Given the description of an element on the screen output the (x, y) to click on. 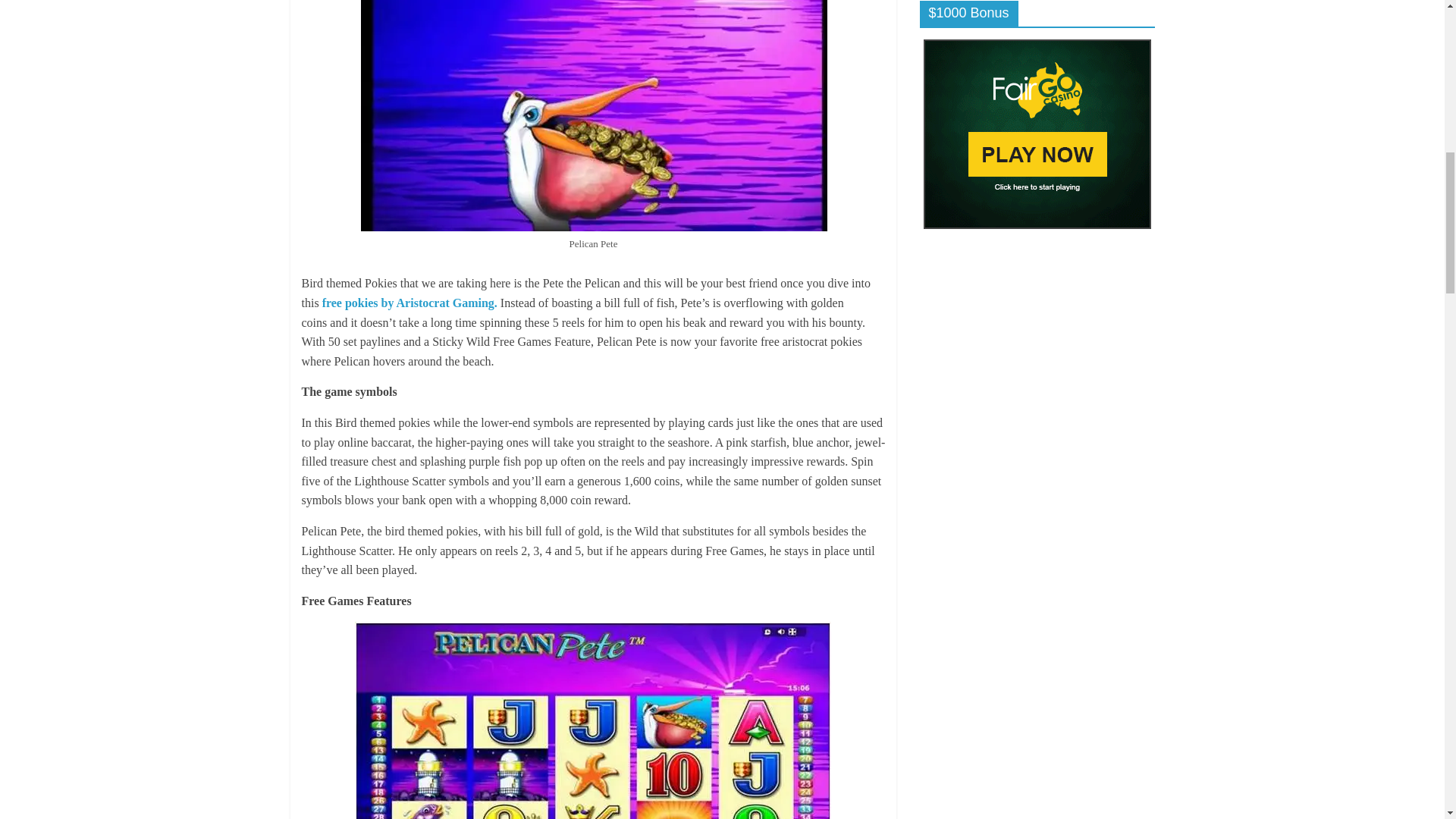
free pokies by Aristocrat Gaming. (409, 302)
